Given the description of an element on the screen output the (x, y) to click on. 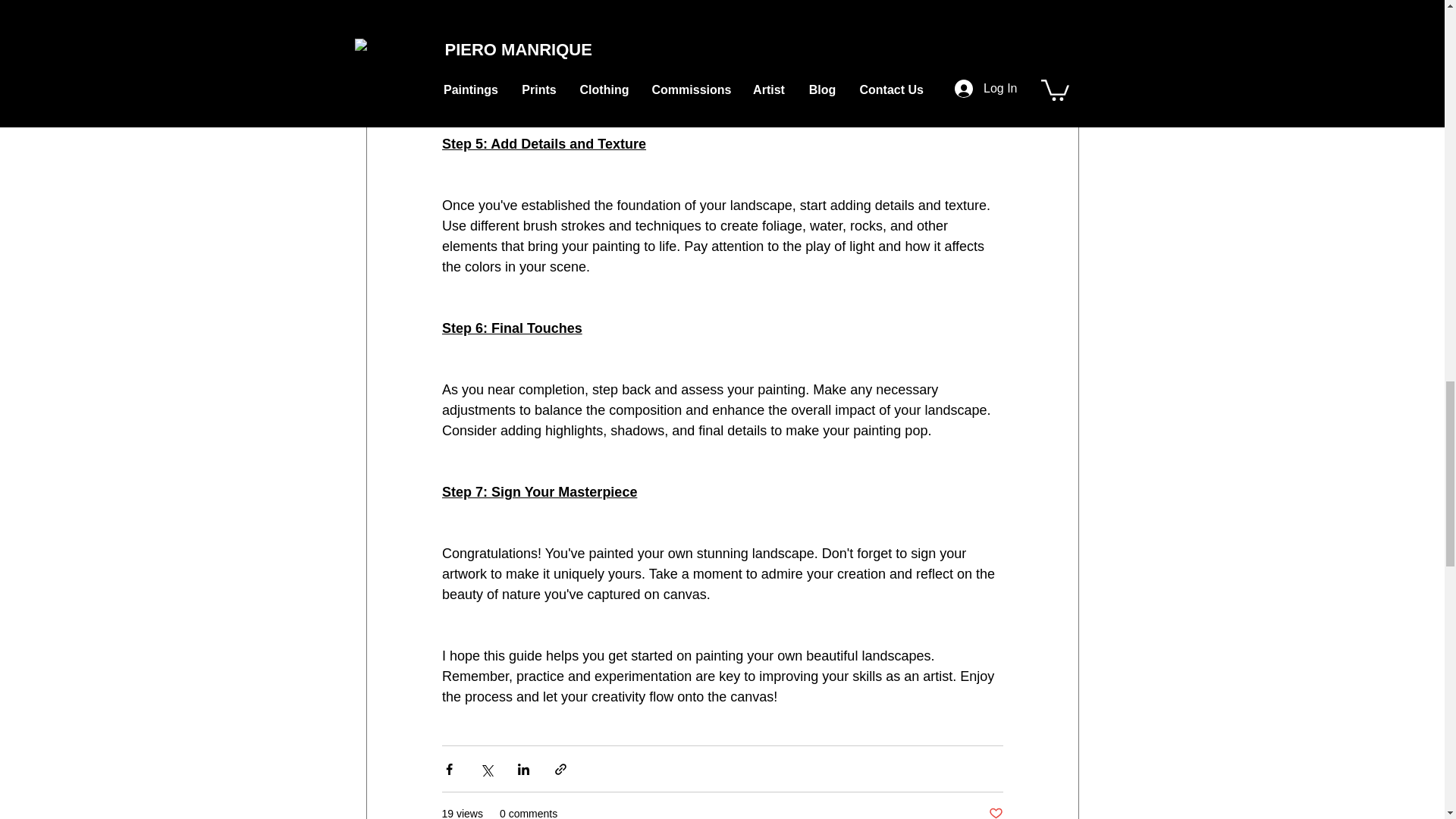
Post not marked as liked (995, 812)
